Given the description of an element on the screen output the (x, y) to click on. 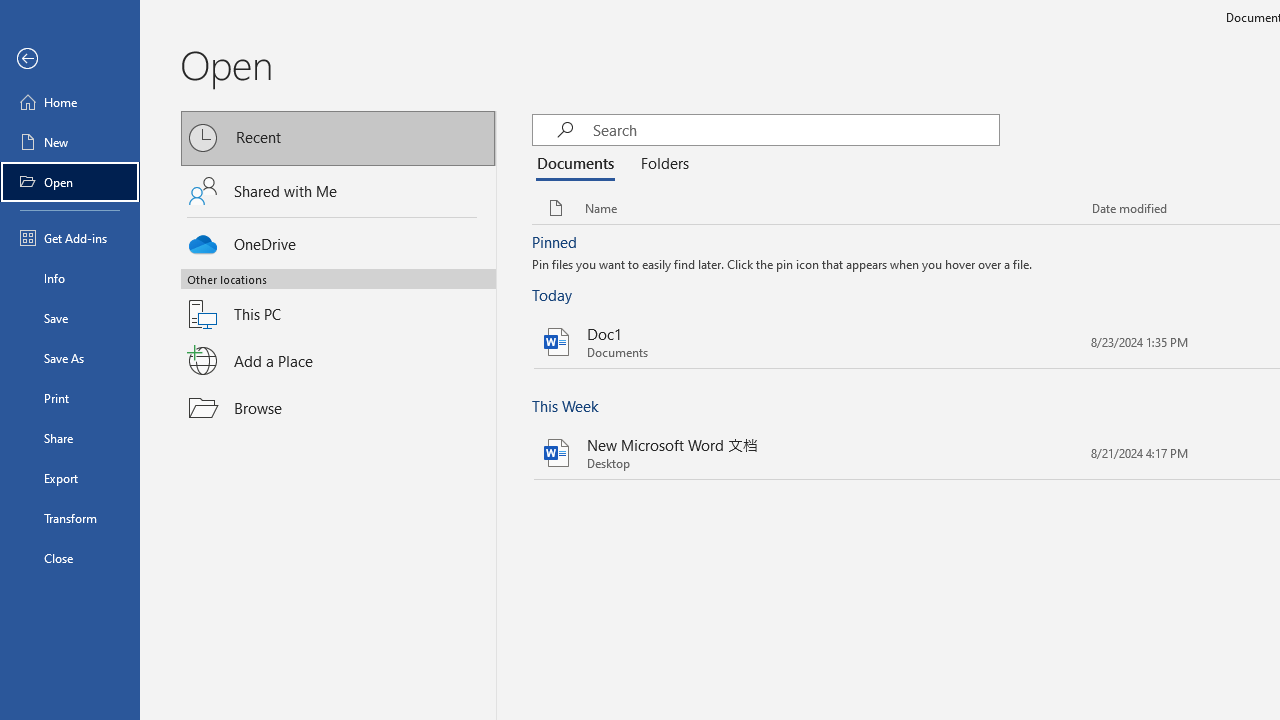
Back (69, 59)
Add a Place (338, 361)
Shared with Me (338, 191)
Documents (579, 164)
Recent (338, 138)
This PC (338, 302)
New (69, 141)
Pin this item to the list (1058, 452)
